Given the description of an element on the screen output the (x, y) to click on. 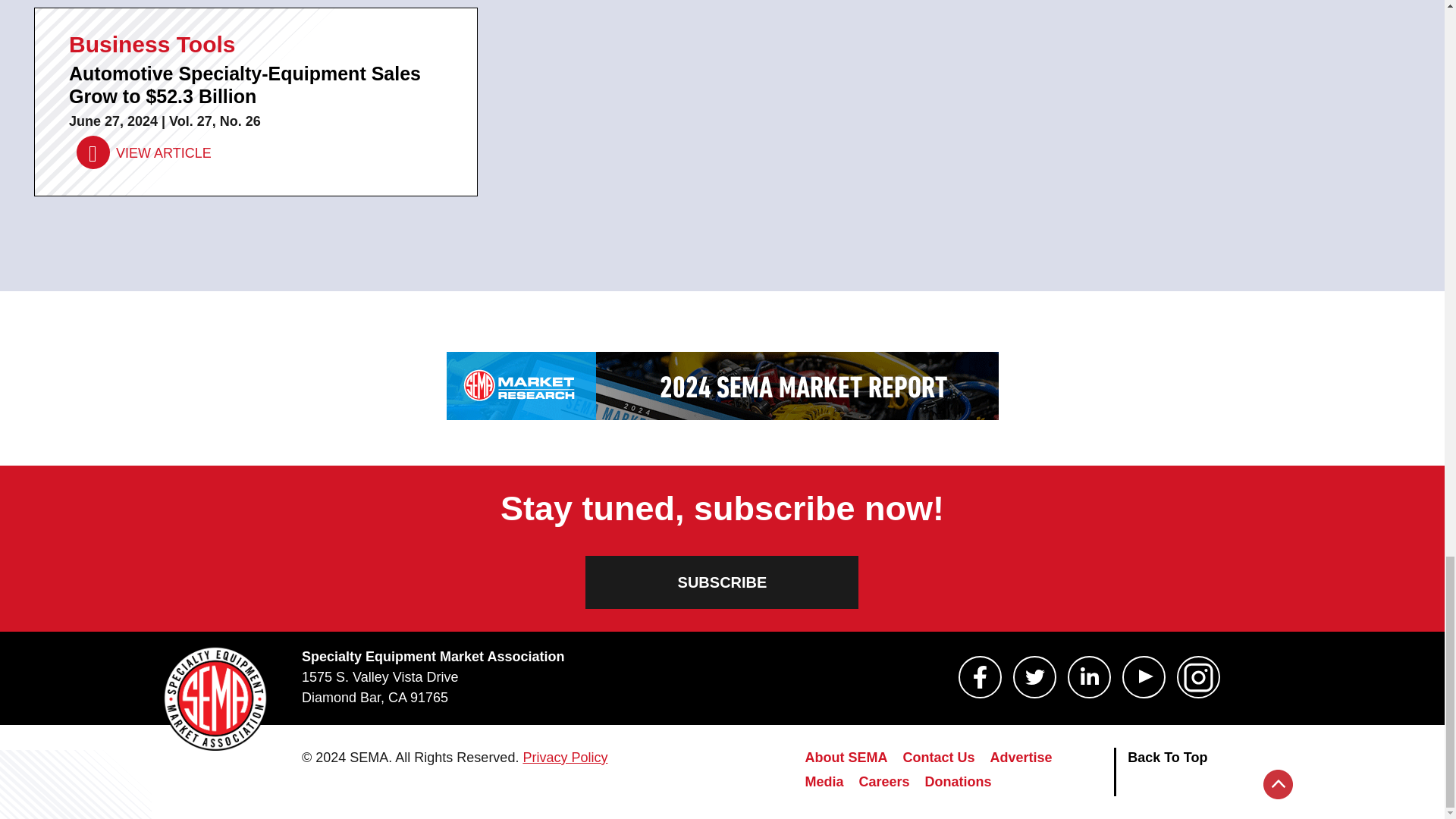
SEMA YouTube Link (1144, 677)
SEMA MR Market Reports 2024 (721, 386)
VIEW ARTICLE (143, 153)
SEMA Instagram Link (1198, 677)
SUBSCRIBE (722, 582)
SEMA Facebook Link (979, 677)
SEMA LinkedIn Link (1088, 677)
SEMA Twitter Link (1035, 677)
Privacy Policy (564, 757)
